Given the description of an element on the screen output the (x, y) to click on. 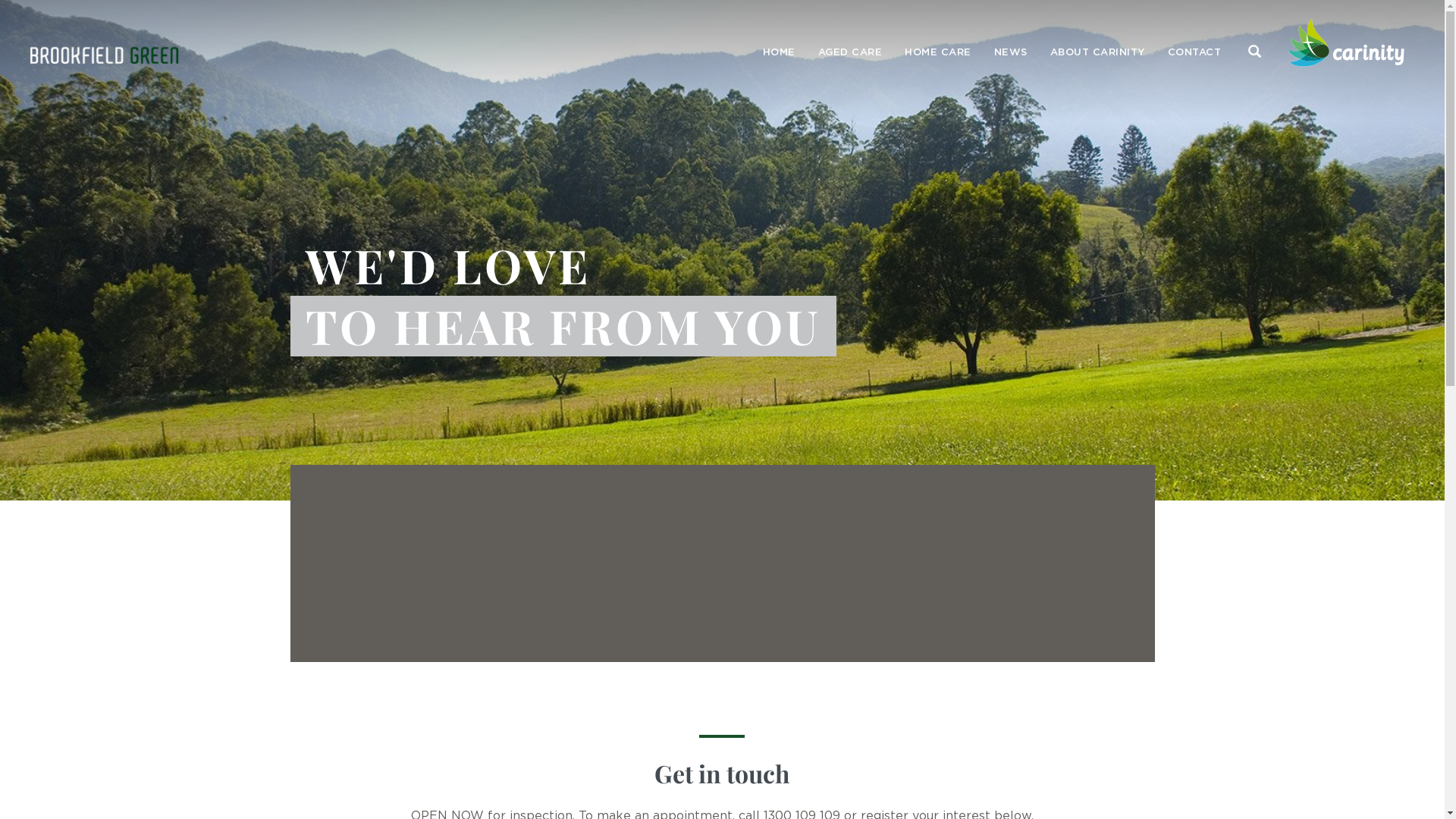
HOME CARE Element type: text (937, 52)
ABOUT CARINITY Element type: text (1097, 52)
AGED CARE Element type: text (850, 52)
HOME Element type: text (778, 52)
NEWS Element type: text (1010, 52)
CONTACT Element type: text (1193, 52)
